Given the description of an element on the screen output the (x, y) to click on. 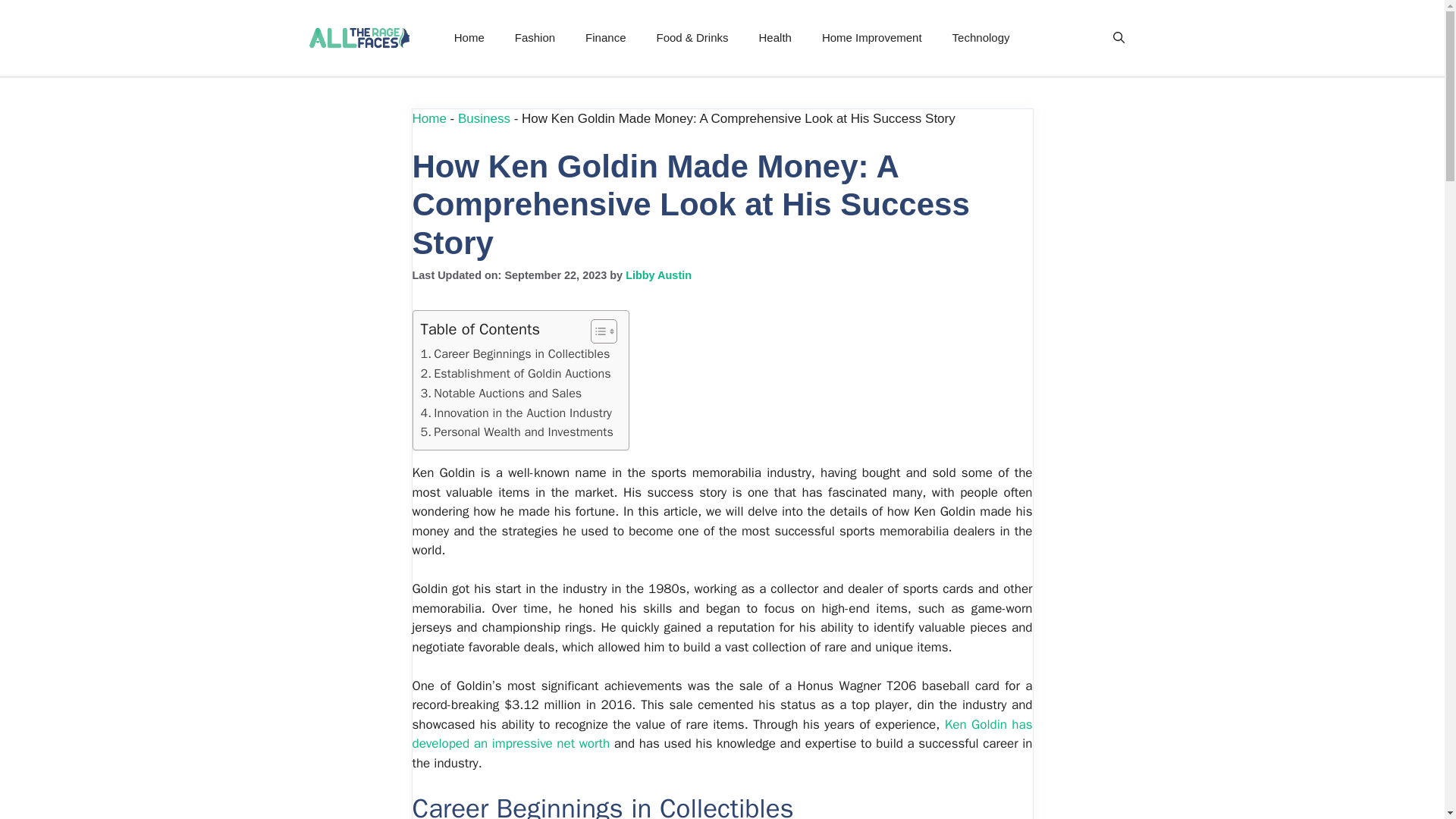
Fashion (534, 37)
Establishment of Goldin Auctions (515, 373)
Establishment of Goldin Auctions (515, 373)
Career Beginnings in Collectibles (515, 353)
Libby Austin (658, 275)
Health (775, 37)
Innovation in the Auction Industry (515, 413)
Personal Wealth and Investments (516, 432)
Notable Auctions and Sales (500, 393)
Home (429, 118)
